Given the description of an element on the screen output the (x, y) to click on. 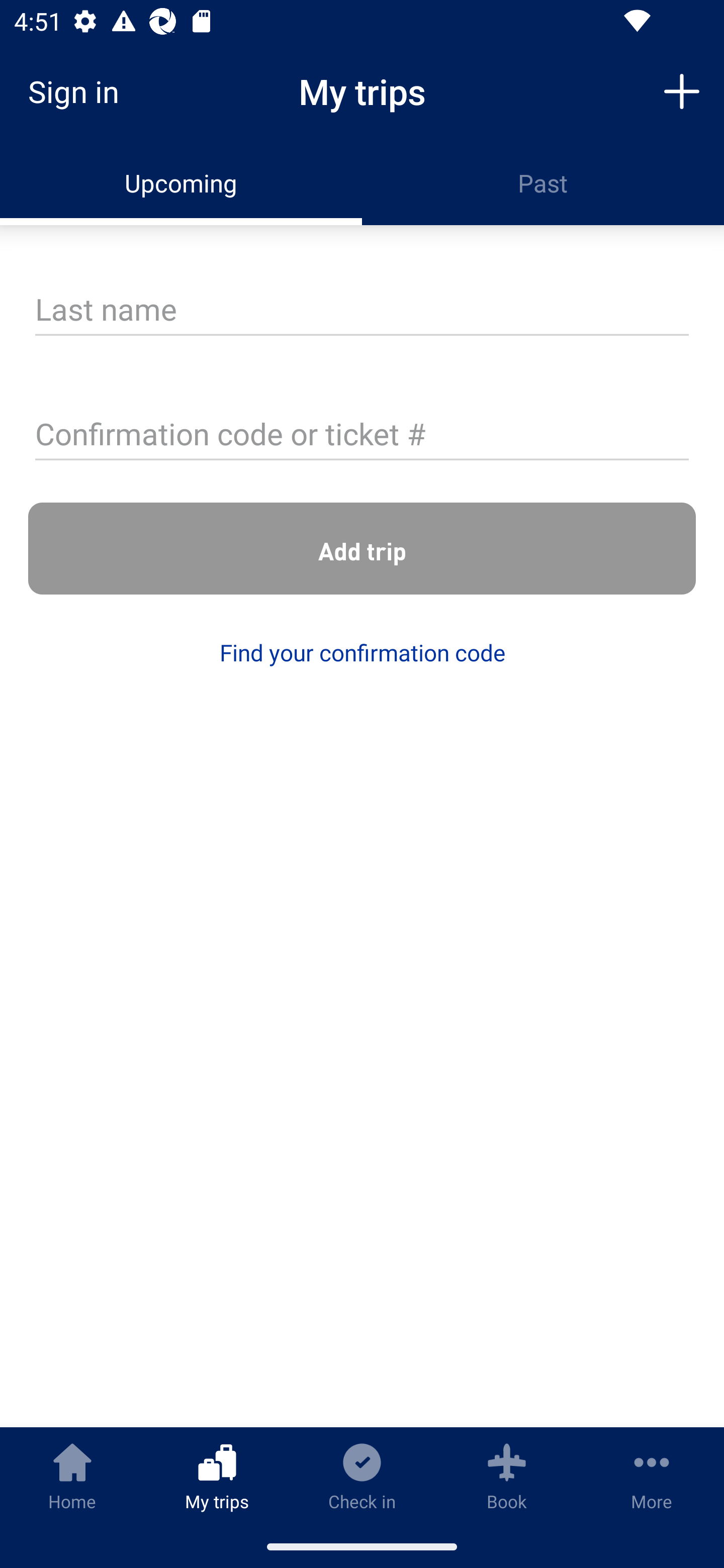
Sign in (80, 91)
Add trip (681, 90)
Past (543, 183)
Last name (361, 310)
Confirmation code or ticket # (361, 435)
Add trip (361, 548)
Home (72, 1475)
Check in (361, 1475)
Book (506, 1475)
More (651, 1475)
